Given the description of an element on the screen output the (x, y) to click on. 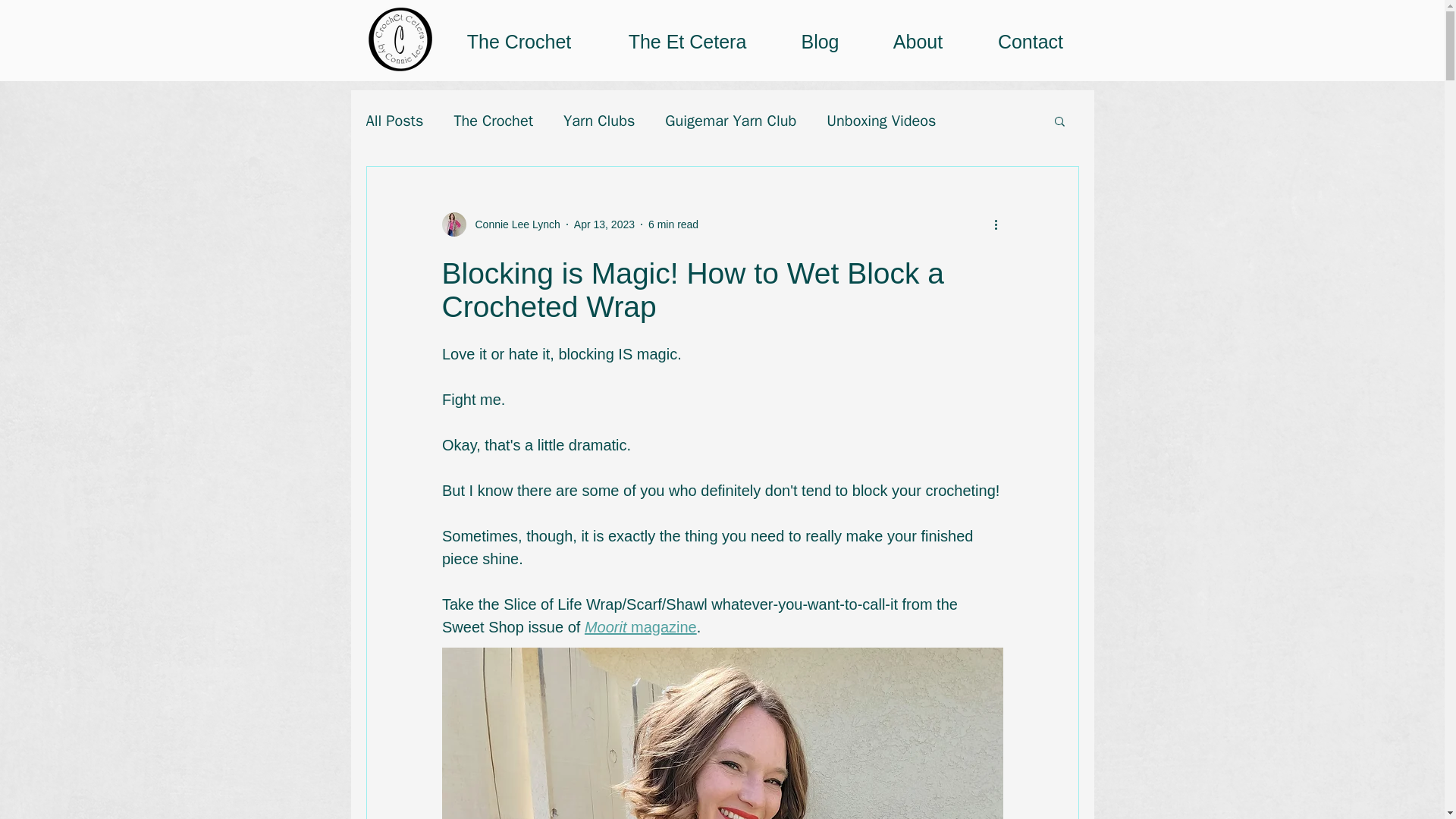
All Posts (394, 120)
Guigemar Yarn Club (730, 120)
The Crochet (518, 38)
Yarn Clubs (598, 120)
The Et Cetera (686, 38)
Contact (1030, 38)
Connie Lee Lynch (512, 224)
Blog (820, 38)
The Crochet (492, 120)
About (918, 38)
Unboxing Videos (881, 120)
Apr 13, 2023 (603, 224)
6 min read (672, 224)
